Given the description of an element on the screen output the (x, y) to click on. 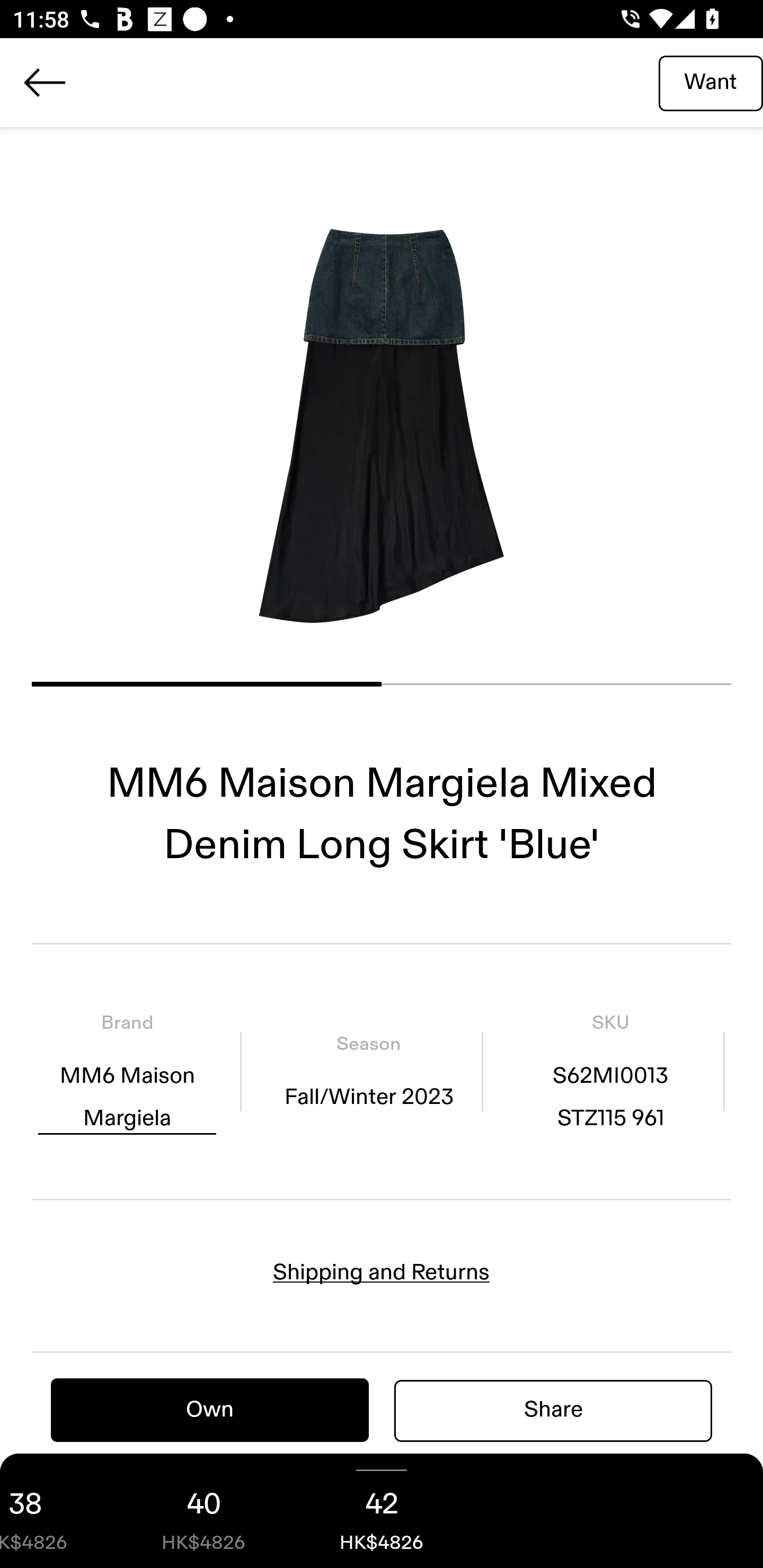
Want (710, 82)
Brand MM6 Maison Margiela (126, 1070)
Season Fall/Winter 2023 (368, 1070)
SKU S62MI0013 STZ115 961 (609, 1070)
Shipping and Returns (381, 1272)
Own (209, 1410)
Share (552, 1410)
38 HK$4826 (57, 1510)
40 HK$4826 (203, 1510)
42 HK$4826 (381, 1510)
